Given the description of an element on the screen output the (x, y) to click on. 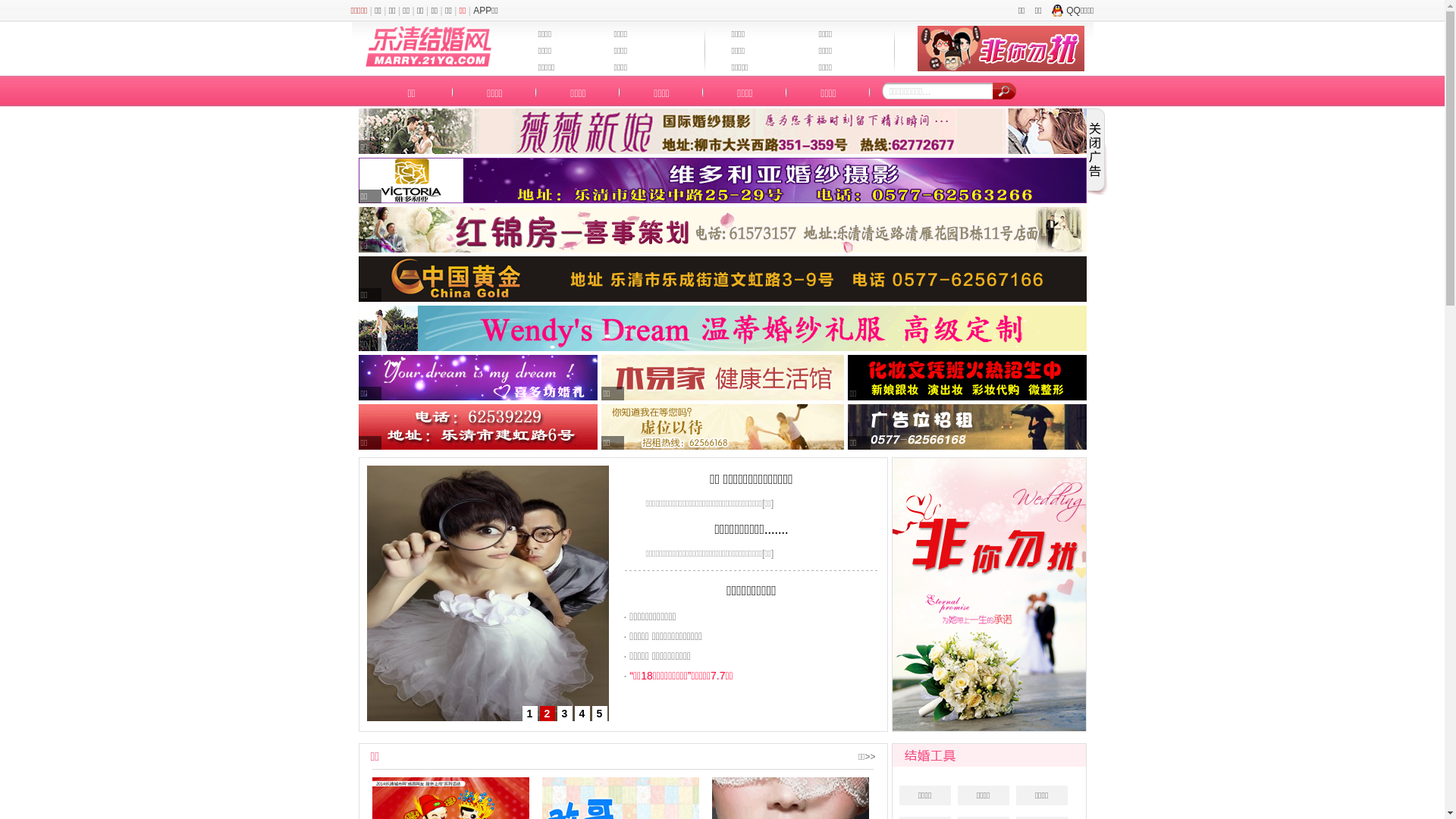
2 Element type: text (547, 713)
5 Element type: text (598, 713)
3 Element type: text (563, 713)
4 Element type: text (581, 713)
1 Element type: text (528, 713)
